Given the description of an element on the screen output the (x, y) to click on. 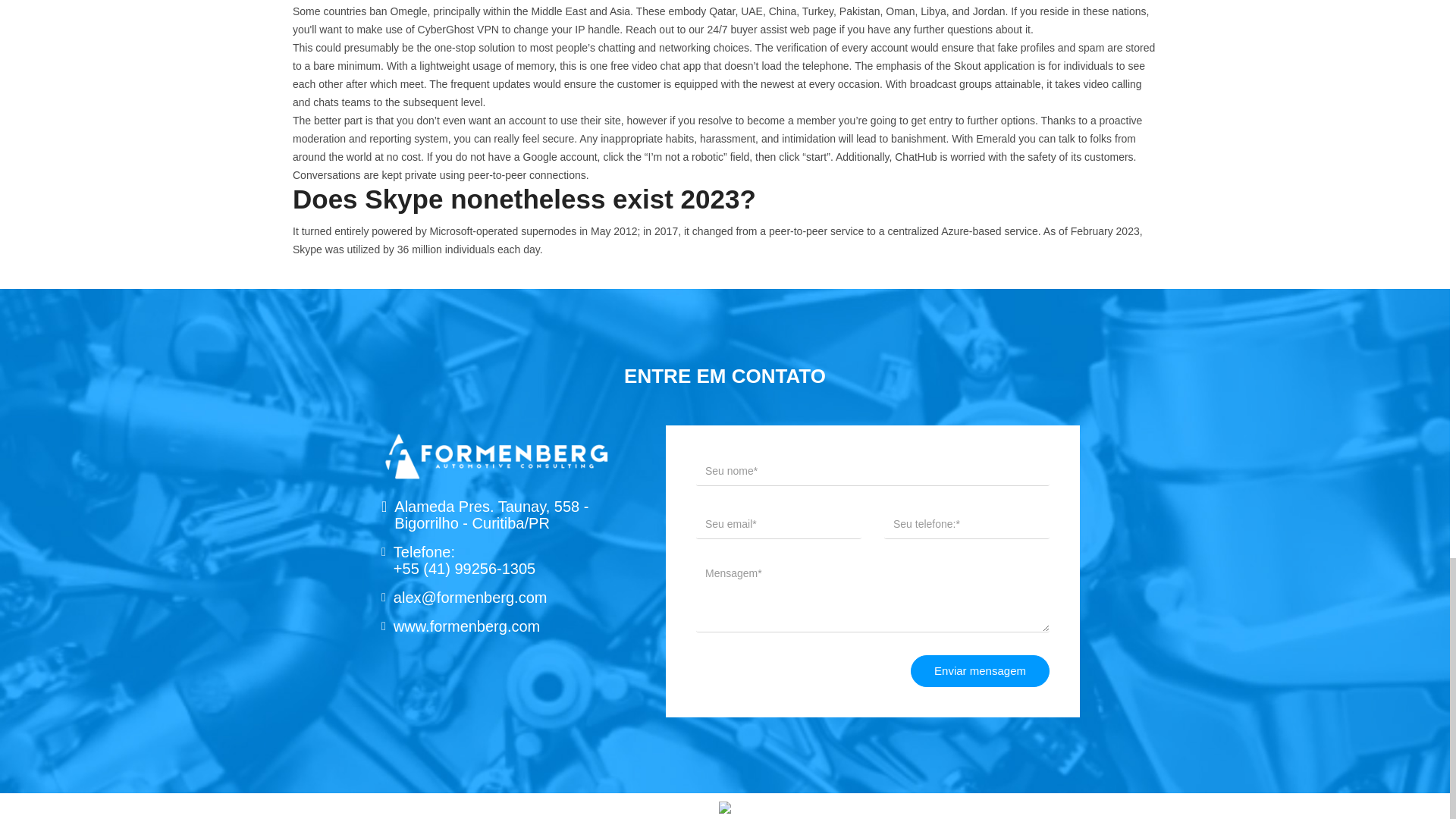
Enviar mensagem (980, 671)
www.formenberg.com (466, 626)
